Given the description of an element on the screen output the (x, y) to click on. 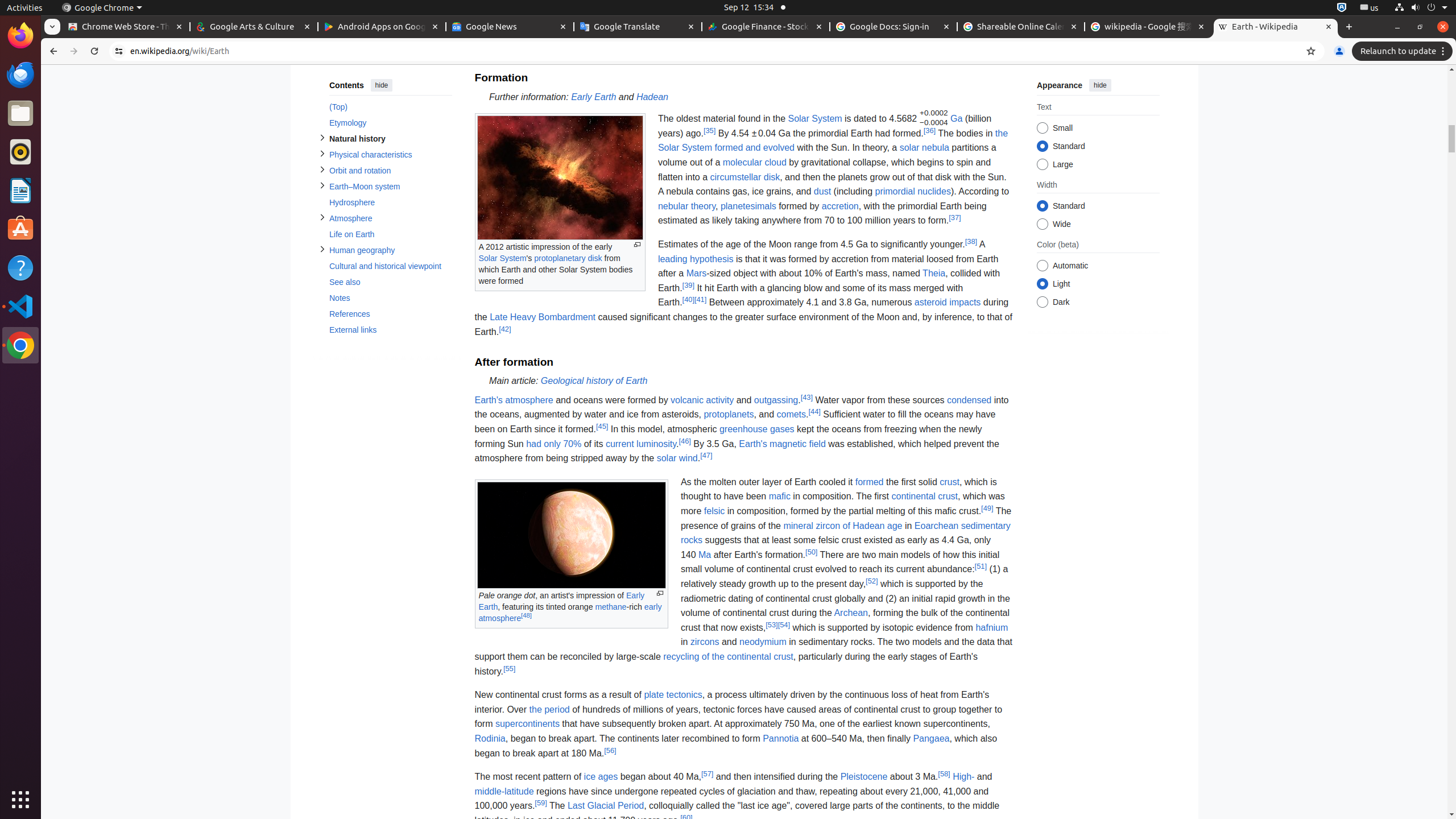
Show Applications Element type: toggle-button (20, 799)
Pleistocene Element type: link (863, 776)
[56] Element type: link (610, 749)
molecular cloud Element type: link (754, 162)
